Given the description of an element on the screen output the (x, y) to click on. 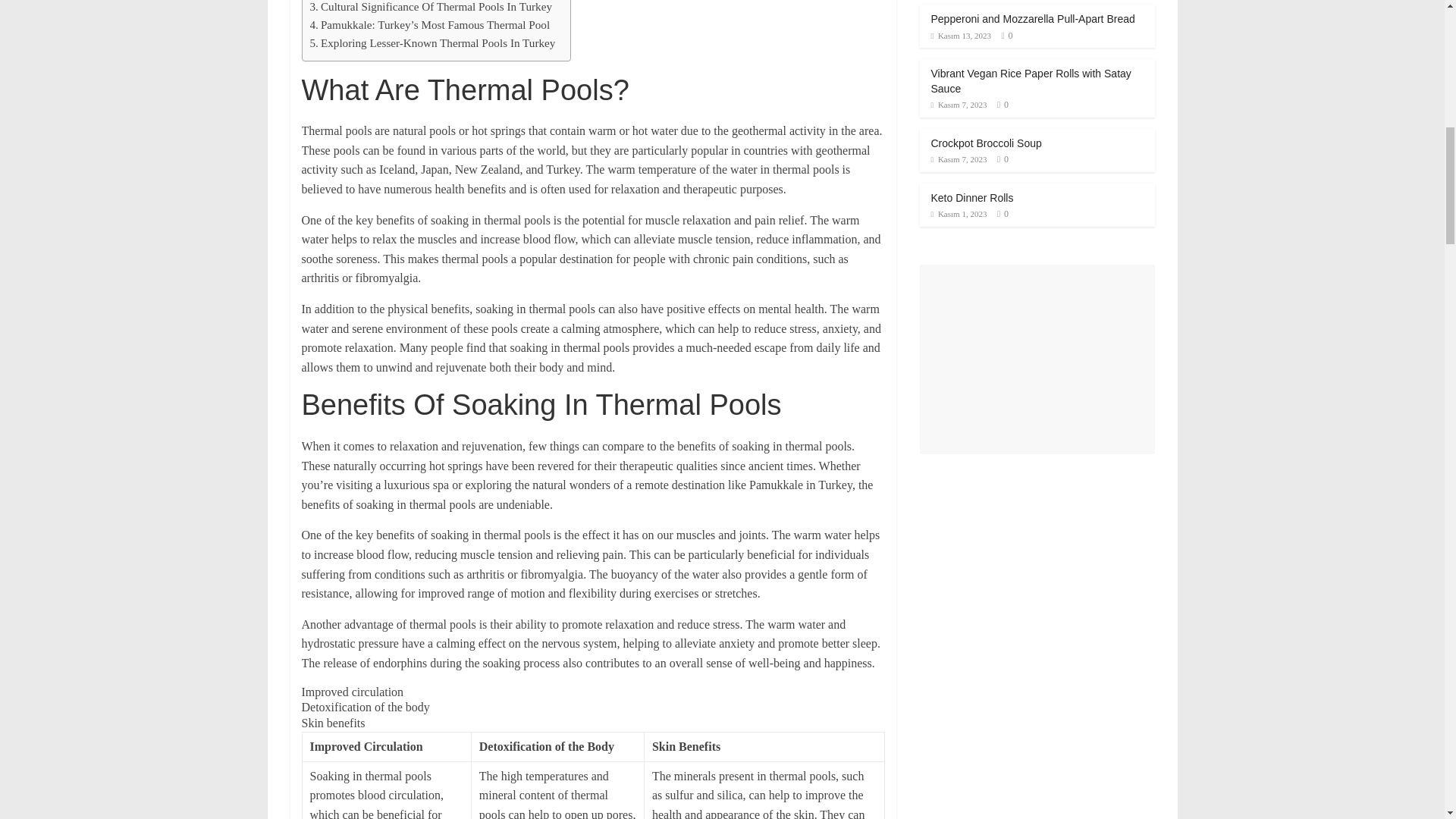
Cultural Significance Of Thermal Pools In Turkey (429, 7)
Cultural Significance Of Thermal Pools In Turkey (429, 7)
Exploring Lesser-Known Thermal Pools In Turkey (431, 43)
